Given the description of an element on the screen output the (x, y) to click on. 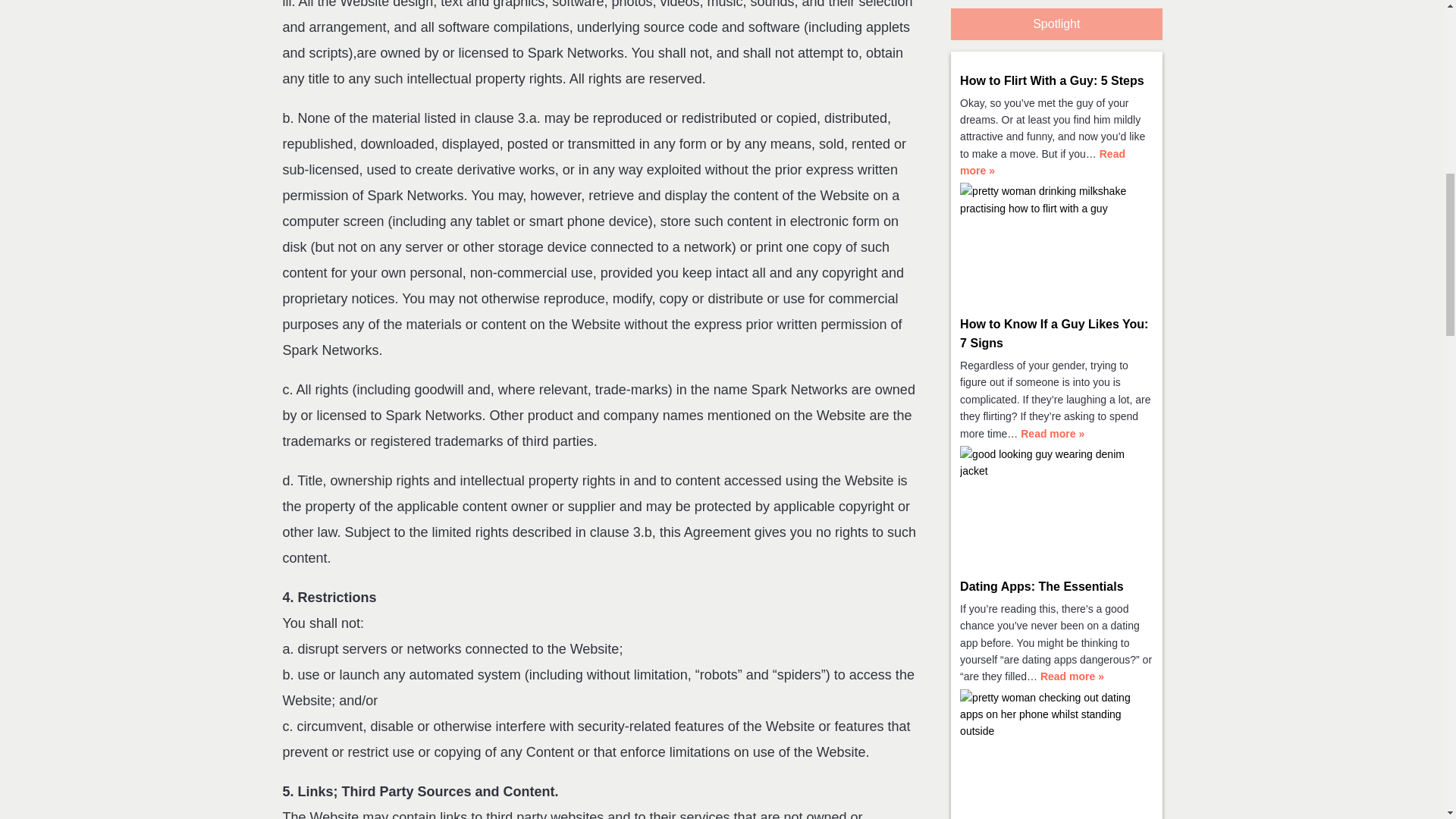
Dating Apps: The Essentials (1040, 585)
How to Know If a Guy Likes You: 7 Signs (1053, 333)
How to Flirt With a Guy: 5 Steps (1051, 80)
